Given the description of an element on the screen output the (x, y) to click on. 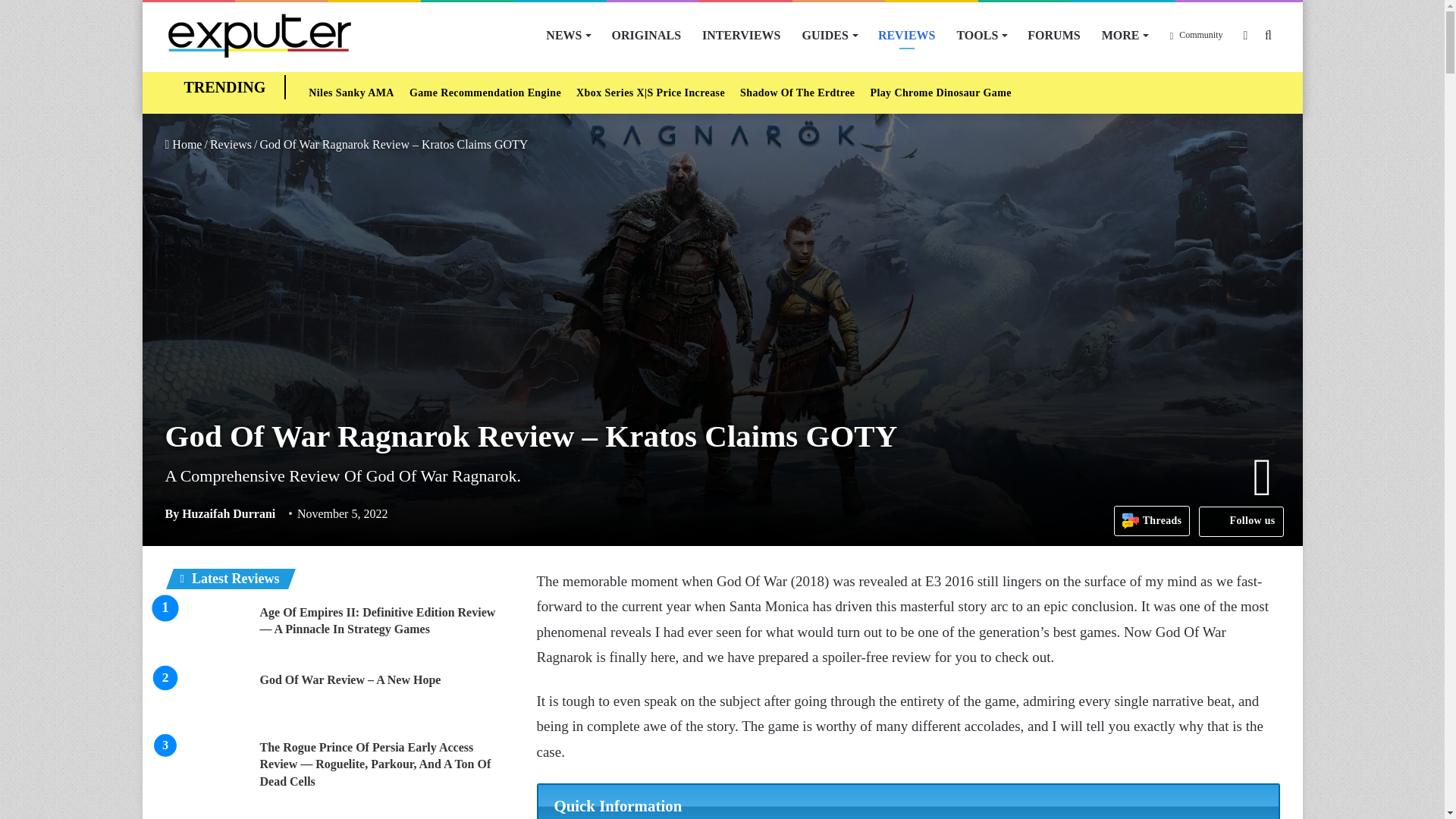
eXputer.com (259, 34)
NEWS (567, 35)
GUIDES (829, 35)
ORIGINALS (645, 35)
Huzaifah Durrani (220, 513)
FORUMS (1053, 35)
INTERVIEWS (740, 35)
TOOLS (980, 35)
REVIEWS (906, 35)
MORE (1124, 35)
